Given the description of an element on the screen output the (x, y) to click on. 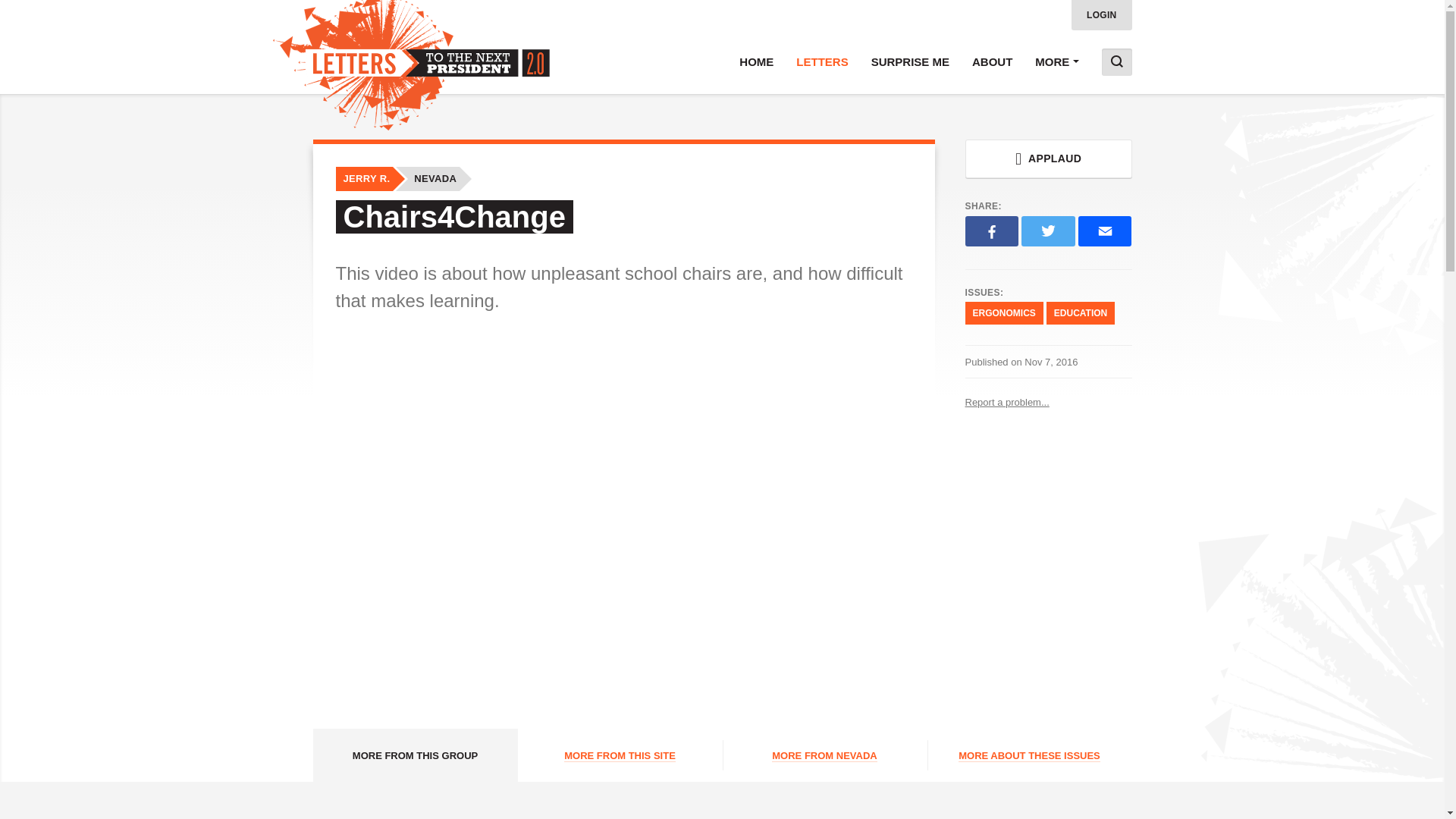
MORE ABOUT THESE ISSUES (1028, 755)
SURPRISE ME (910, 62)
EDUCATION (1080, 313)
ERGONOMICS (1002, 313)
LETTERS (821, 62)
MORE FROM THIS GROUP (414, 755)
Report a problem... (1047, 402)
MORE FROM THIS SITE (619, 755)
ABOUT (991, 62)
MORE FROM NEVADA (824, 755)
